Given the description of an element on the screen output the (x, y) to click on. 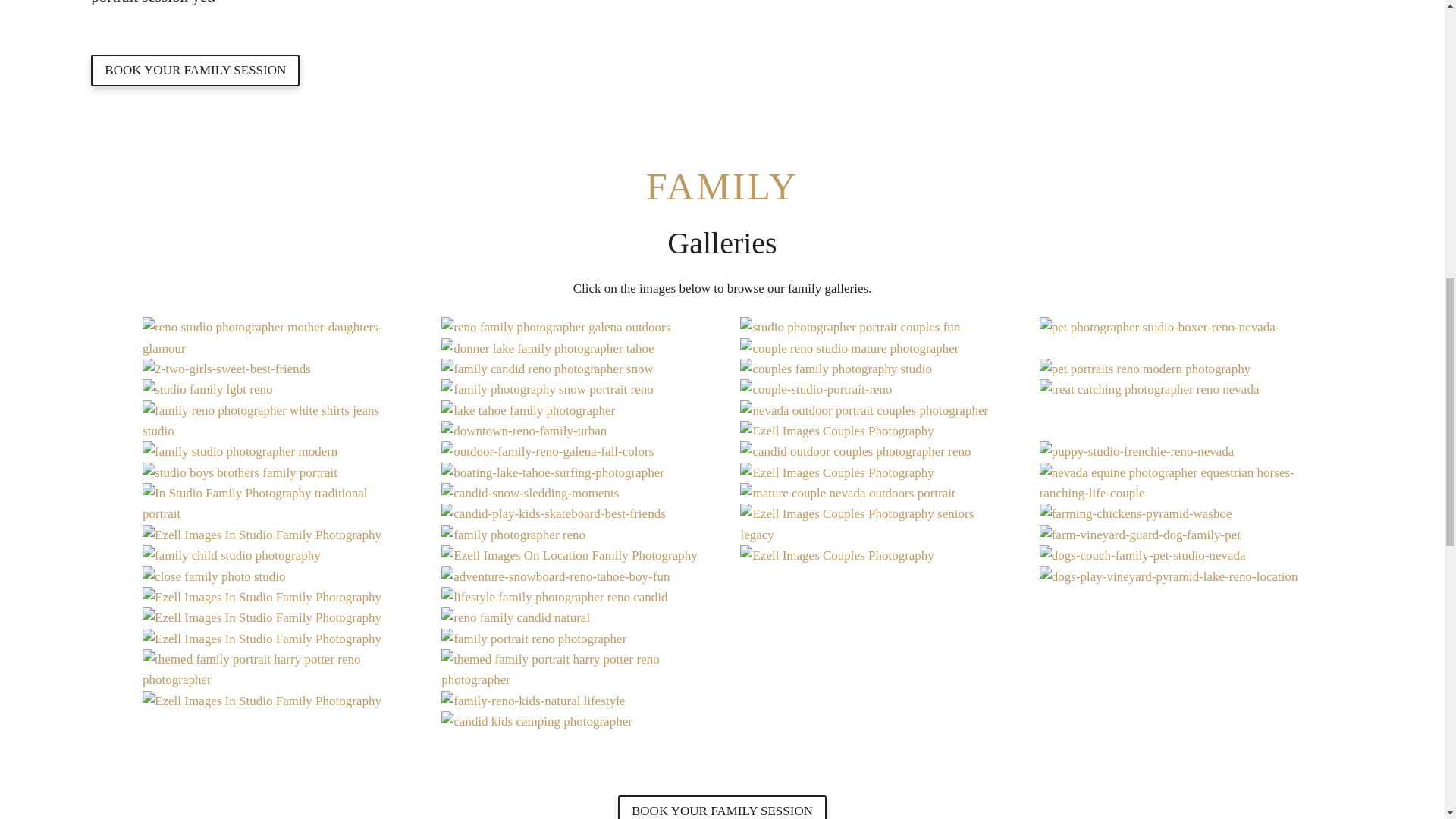
BOOK YOUR FAMILY SESSION (194, 69)
